Given the description of an element on the screen output the (x, y) to click on. 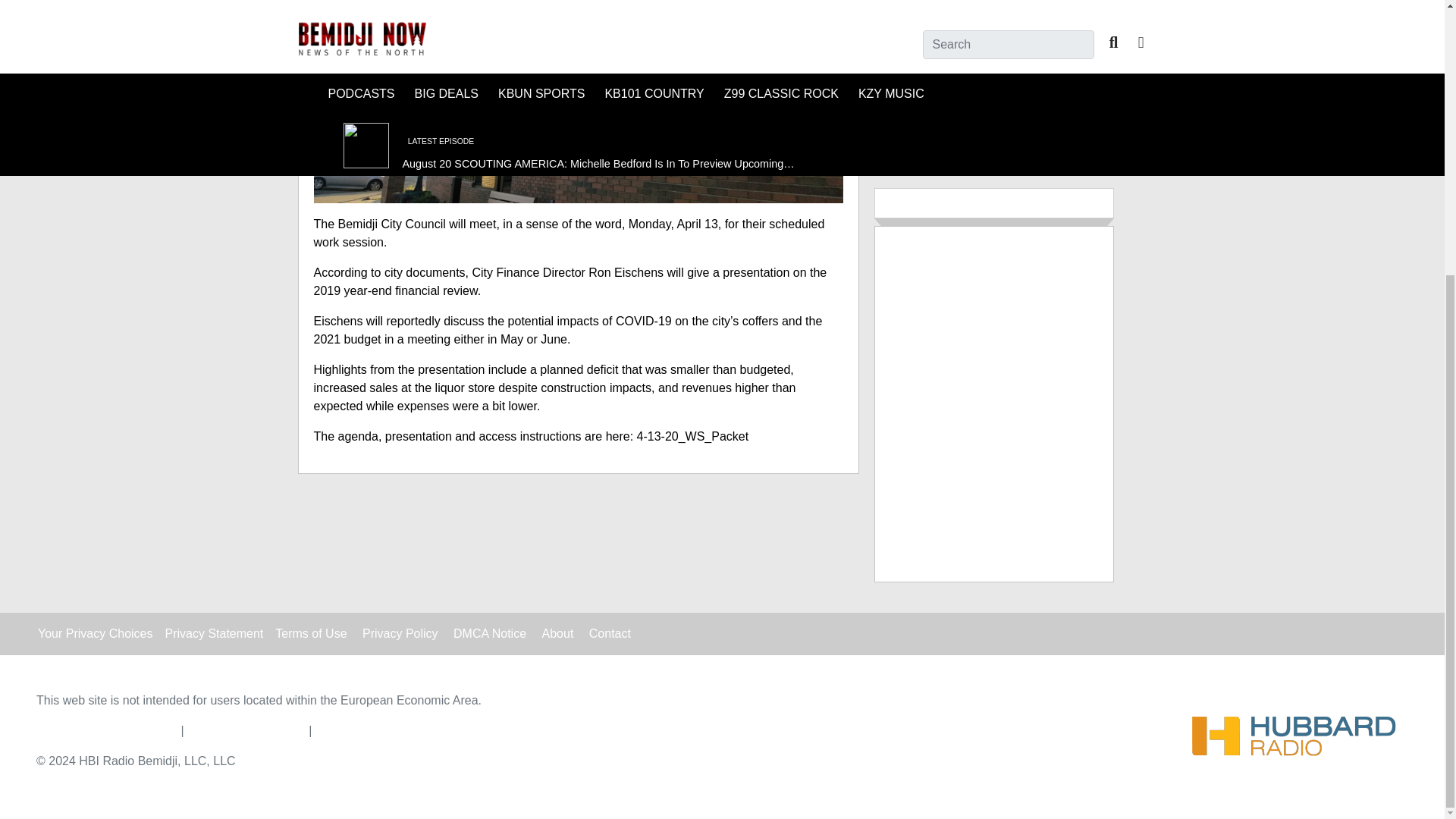
Your Privacy Choices (94, 633)
Terms of Use (310, 633)
Privacy Statement (213, 633)
MORE (993, 120)
Privacy Policy (400, 633)
